Given the description of an element on the screen output the (x, y) to click on. 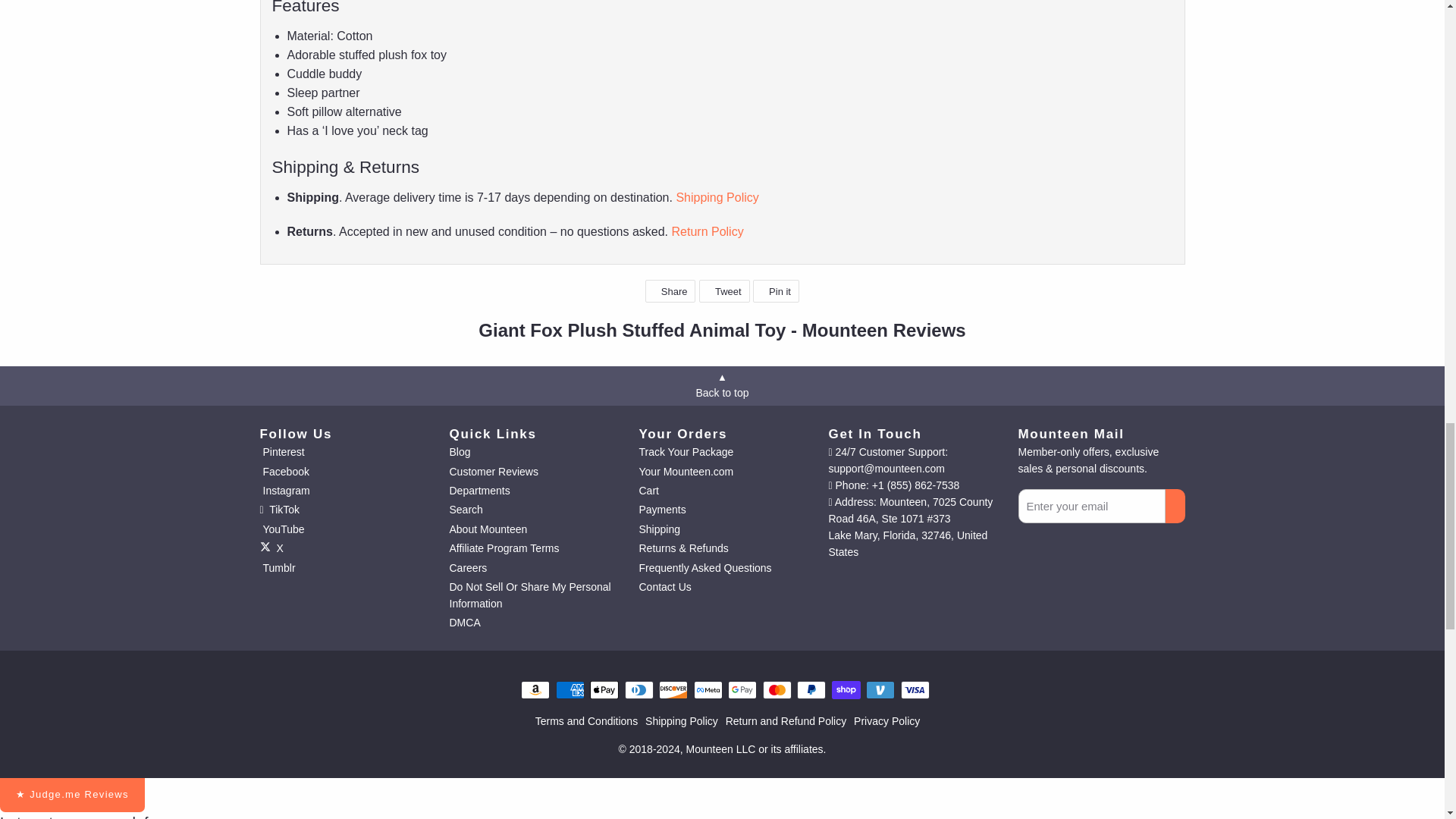
American Express (568, 689)
Mounteen on Instagram (283, 490)
Mounteen on TikTok (279, 509)
Meta Pay (707, 689)
Diners Club (638, 689)
Pin on Pinterest (775, 291)
Mounteen on YouTube (281, 529)
Share on Facebook (670, 291)
Mounteen on Tumblr (277, 567)
Google Pay (742, 689)
Tweet on Twitter (723, 291)
Mounteen on Facebook (283, 471)
Mounteen on X (270, 548)
Apple Pay (603, 689)
Mounteen on Pinterest (281, 451)
